Given the description of an element on the screen output the (x, y) to click on. 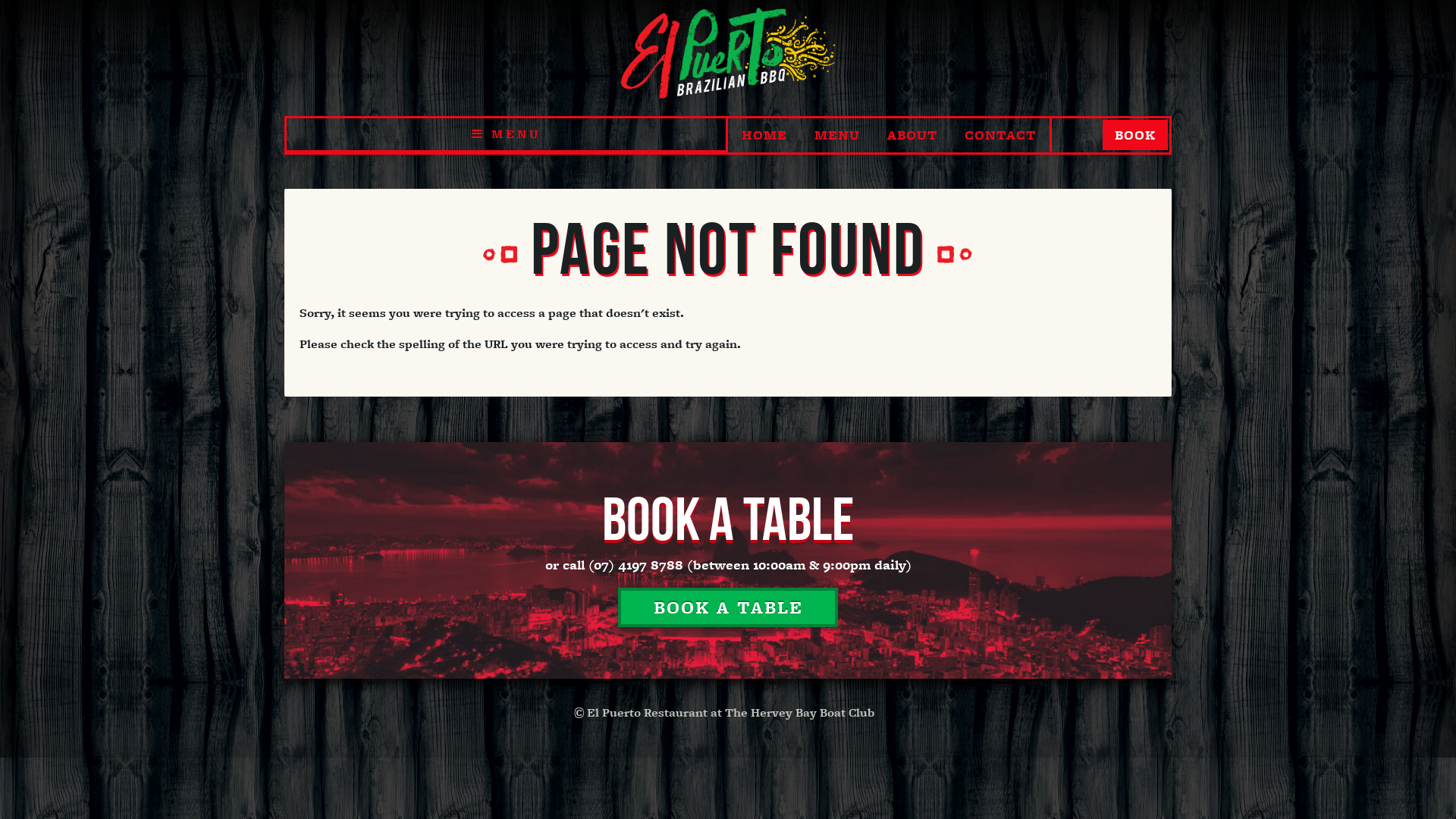
CONTACT Element type: text (1000, 134)
MENU Element type: text (837, 134)
BOOK A TABLE Element type: text (727, 607)
HOME Element type: text (764, 134)
BOOK Element type: text (1134, 134)
ABOUT Element type: text (912, 134)
MENU Element type: text (506, 133)
